Given the description of an element on the screen output the (x, y) to click on. 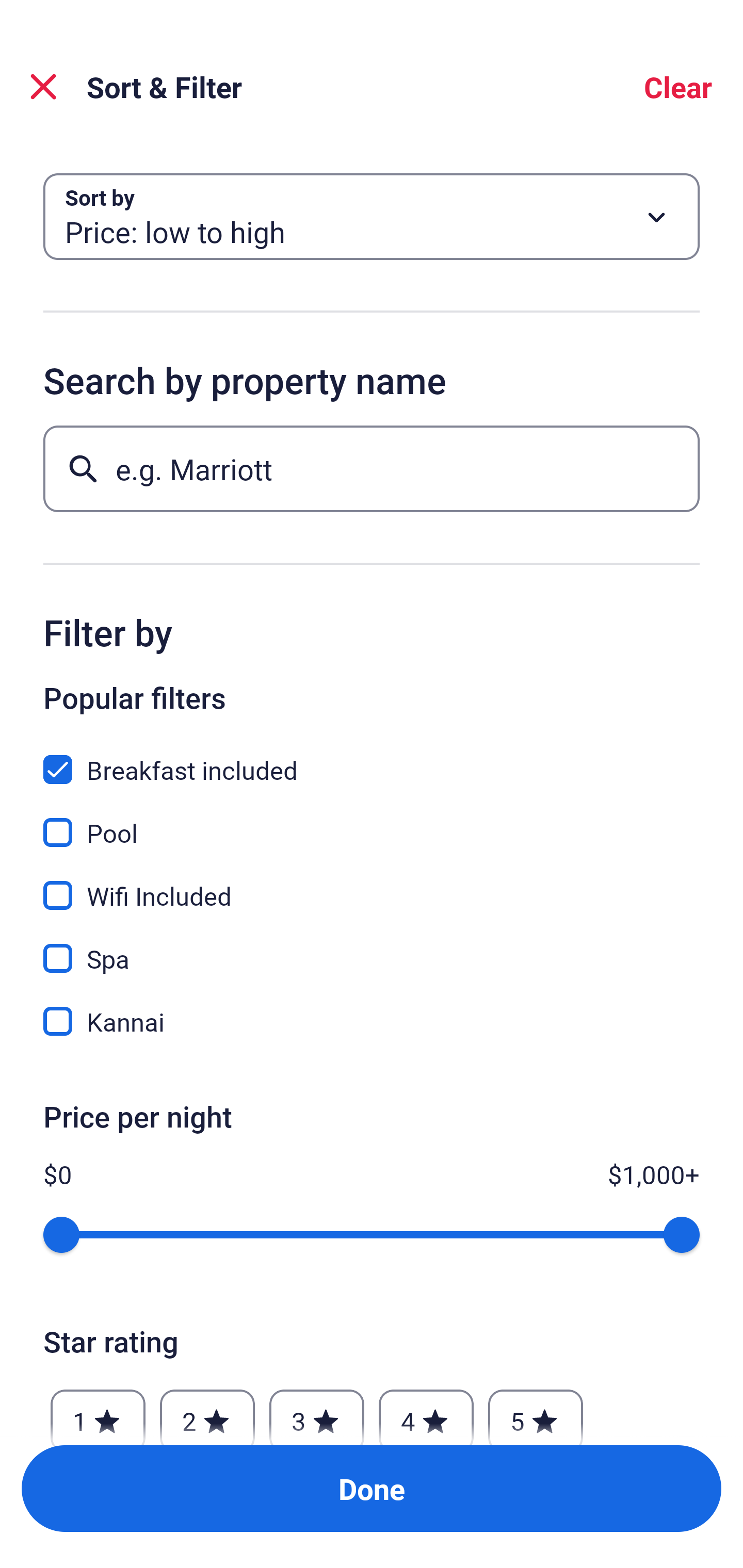
Close Sort and Filter (43, 86)
Clear (677, 86)
Sort by Button Price: low to high (371, 217)
e.g. Marriott Button (371, 468)
Breakfast included, Breakfast included (371, 757)
Pool, Pool (371, 821)
Wifi Included, Wifi Included (371, 883)
Spa, Spa (371, 946)
Kannai, Kannai (371, 1021)
1 (97, 1411)
2 (206, 1411)
3 (316, 1411)
4 (426, 1411)
5 (535, 1411)
Apply and close Sort and Filter Done (371, 1488)
